Given the description of an element on the screen output the (x, y) to click on. 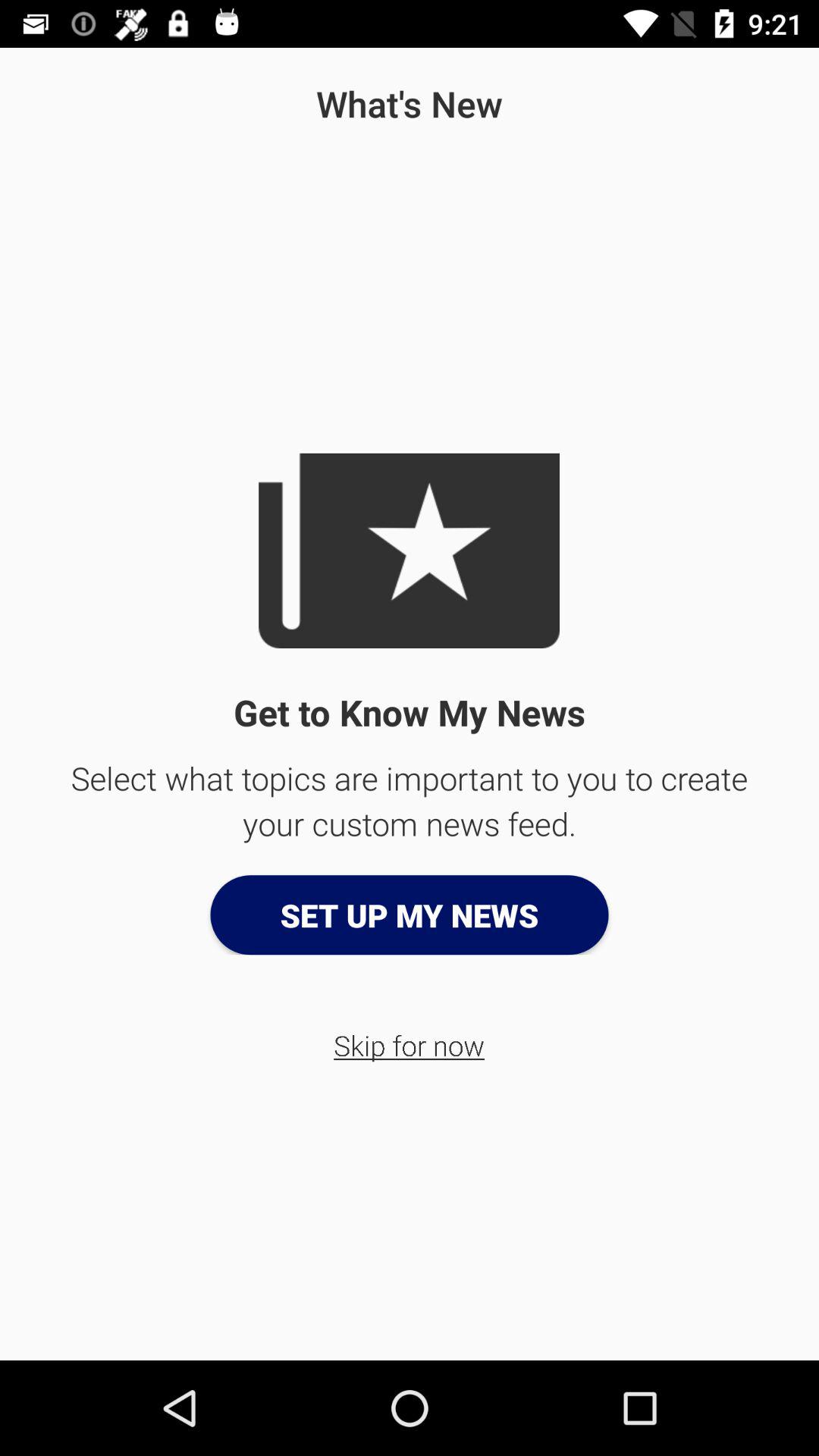
turn off app below select what topics (409, 914)
